Given the description of an element on the screen output the (x, y) to click on. 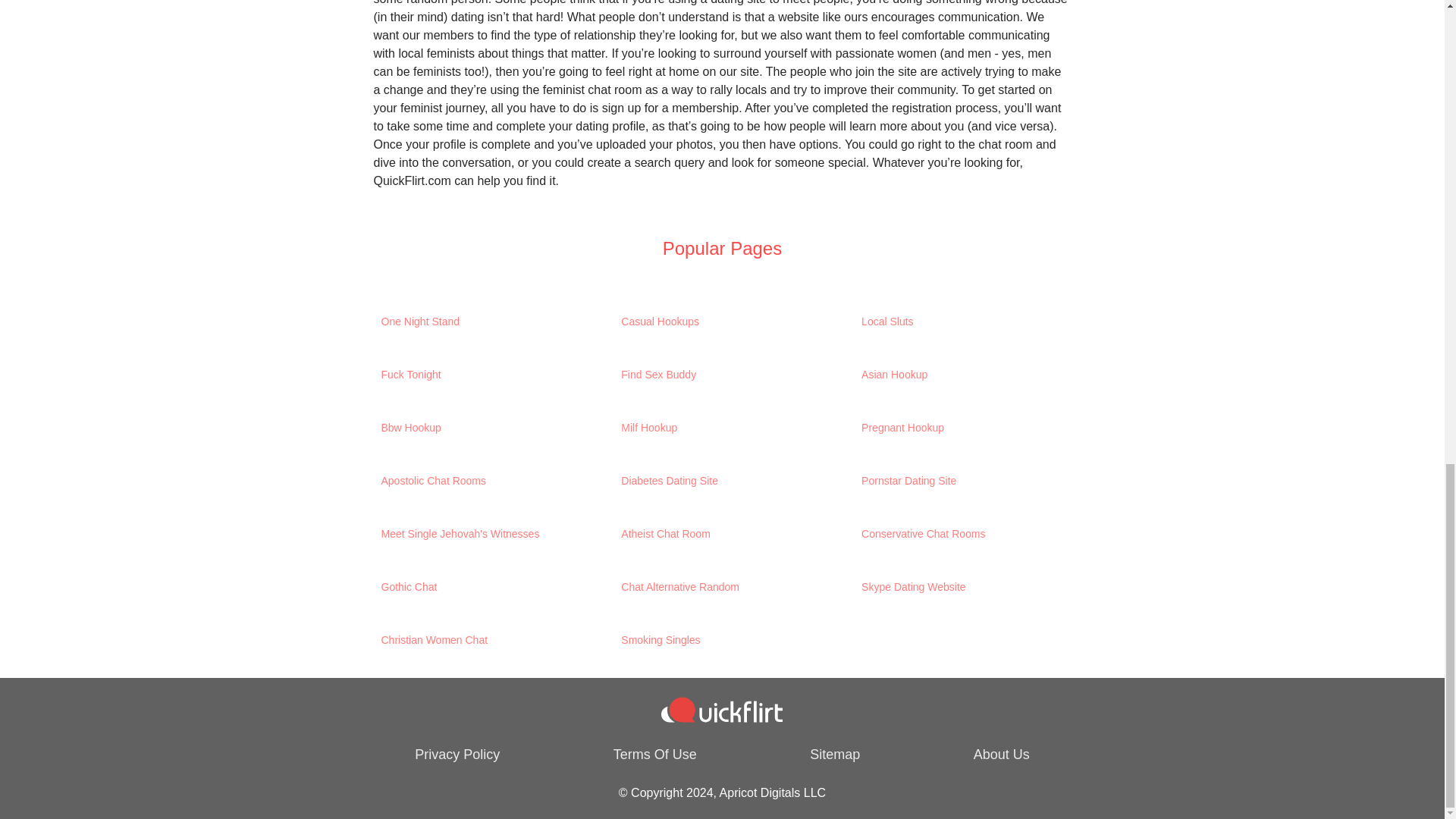
Sitemap (834, 754)
About Us (1001, 754)
Conservative Chat Rooms (958, 533)
Apostolic Chat Rooms (478, 480)
Bbw Hookup (478, 427)
Local Sluts (958, 321)
Milf Hookup (718, 427)
Christian Women Chat (478, 639)
One Night Stand (478, 321)
Gothic Chat (478, 586)
BBW Hookup (478, 427)
Diabetes Dating Site (718, 480)
Skype Dating Website (958, 586)
Terms Of Use (654, 754)
One Night Stand (478, 321)
